Given the description of an element on the screen output the (x, y) to click on. 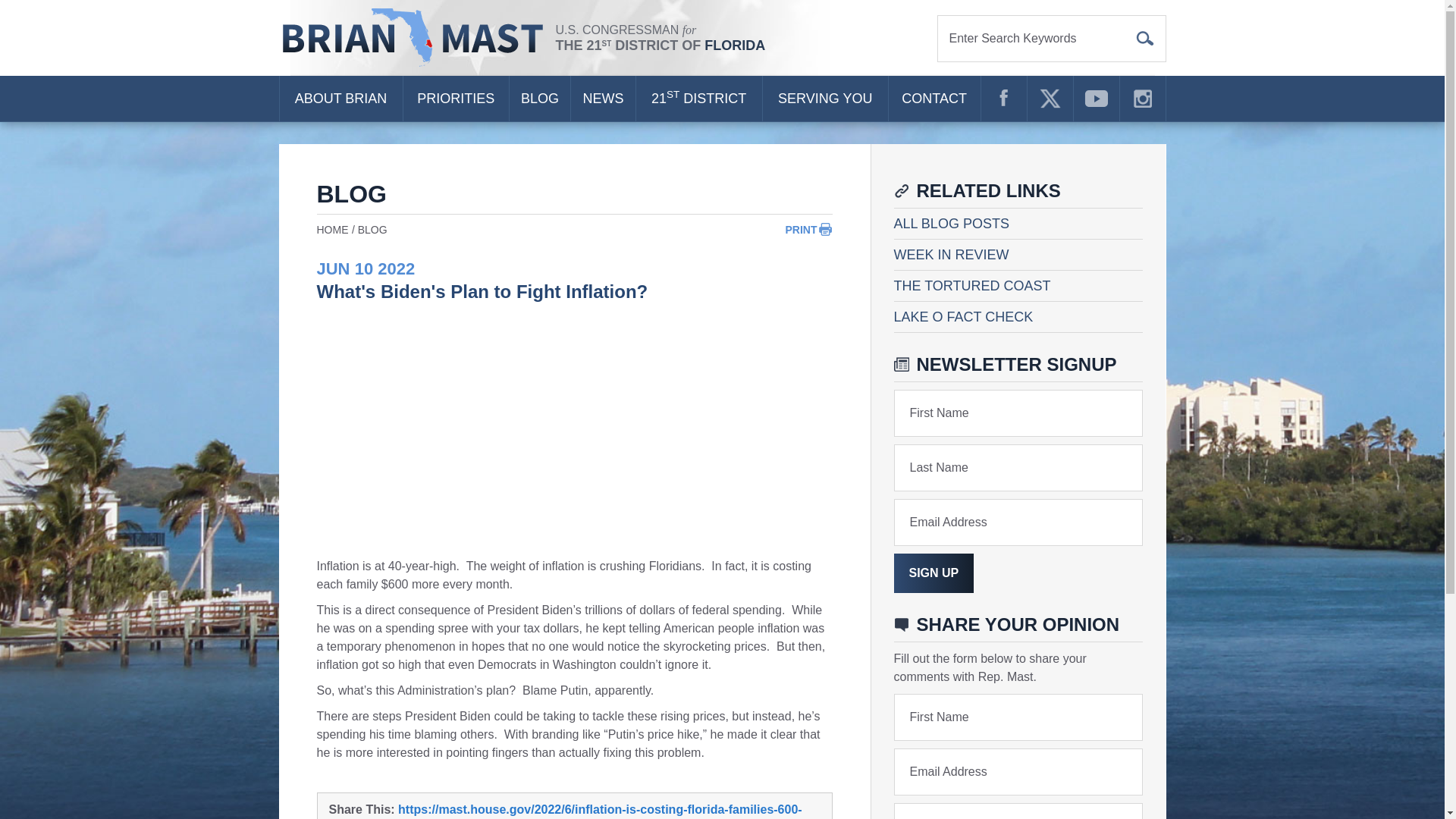
CONTACT (933, 98)
NEWS (602, 98)
PRIORITIES (455, 98)
Go (1144, 38)
21ST DISTRICT (698, 98)
BLOG (539, 98)
Congressman Brian Mast (417, 38)
SERVING YOU (825, 98)
ABOUT BRIAN (340, 98)
